Given the description of an element on the screen output the (x, y) to click on. 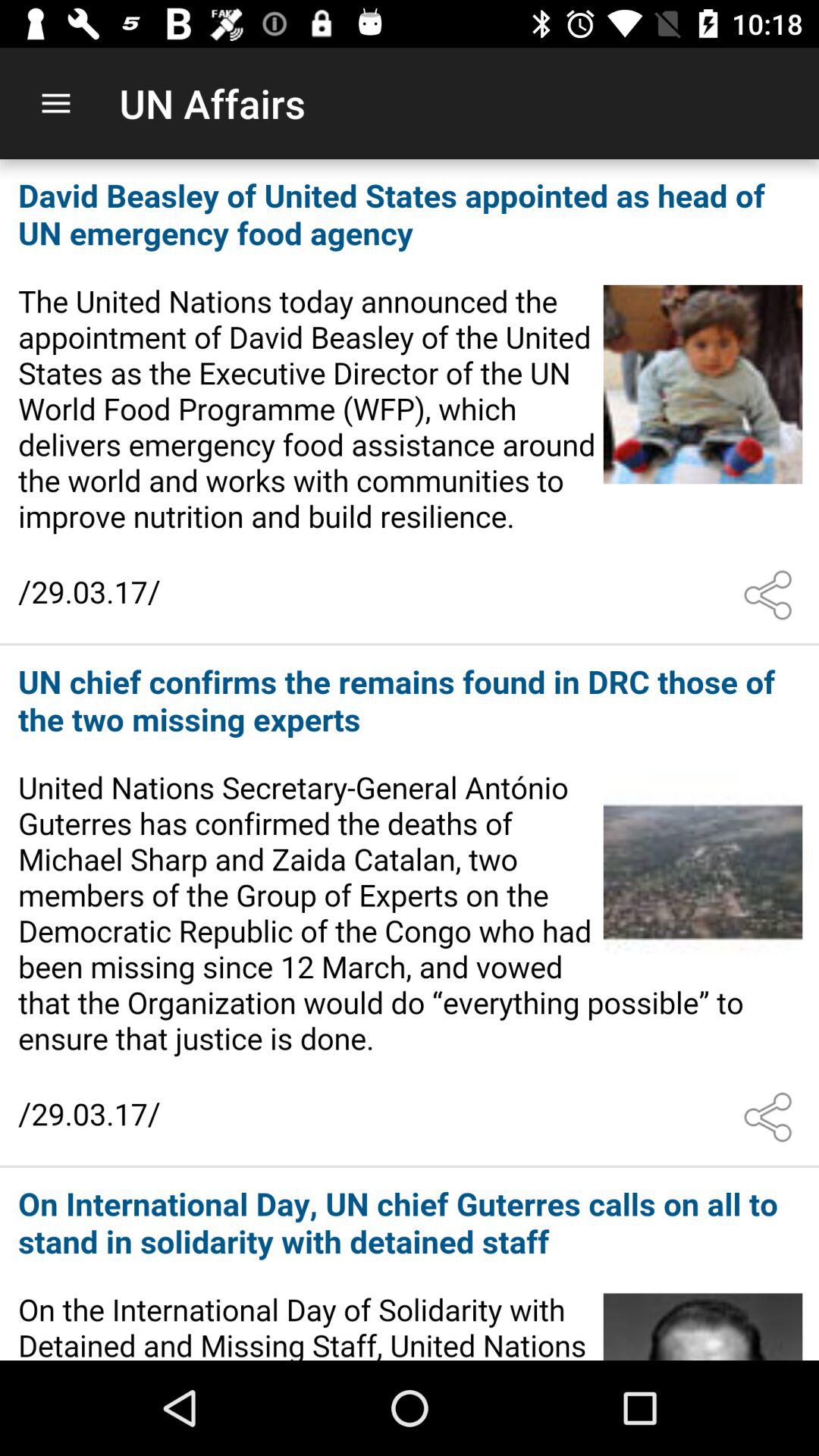
go to customize (771, 1117)
